Given the description of an element on the screen output the (x, y) to click on. 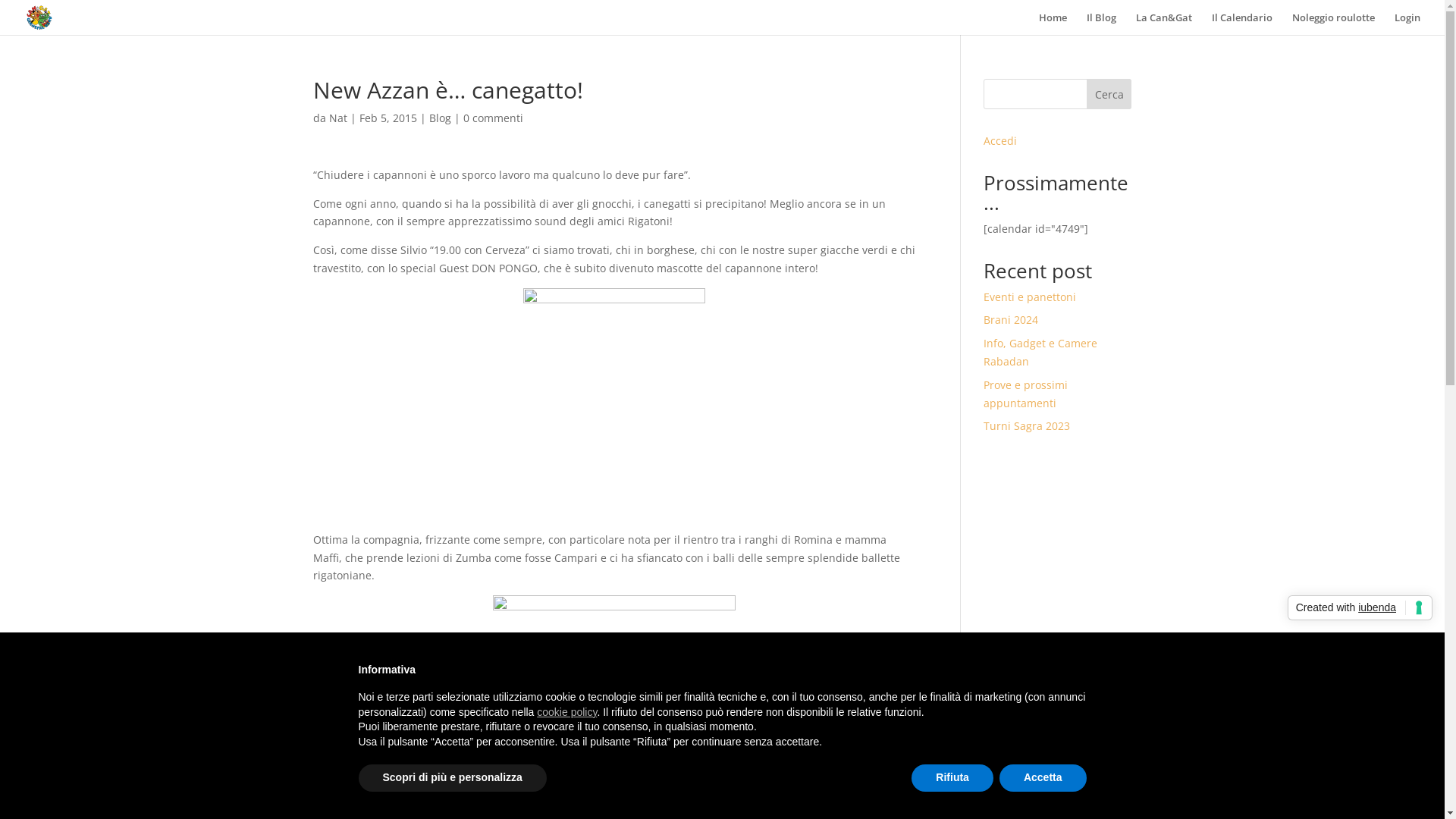
Nat Element type: text (338, 117)
Il Calendario Element type: text (1241, 23)
Created with iubenda Element type: text (1359, 608)
Eventi e panettoni Element type: text (1029, 296)
0 commenti Element type: text (492, 117)
Blog Element type: text (440, 117)
Brani 2024 Element type: text (1010, 319)
Noleggio roulotte Element type: text (1333, 23)
Cerca Element type: text (1109, 93)
Accetta Element type: text (1042, 777)
Accedi Element type: text (999, 140)
Prove e prossimi appuntamenti Element type: text (1025, 393)
Home Element type: text (1052, 23)
Il Blog Element type: text (1101, 23)
Turni Sagra 2023 Element type: text (1026, 425)
Rifiuta Element type: text (952, 777)
cookie policy Element type: text (566, 712)
Login Element type: text (1407, 23)
Info, Gadget e Camere Rabadan Element type: text (1040, 351)
La Can&Gat Element type: text (1163, 23)
